Given the description of an element on the screen output the (x, y) to click on. 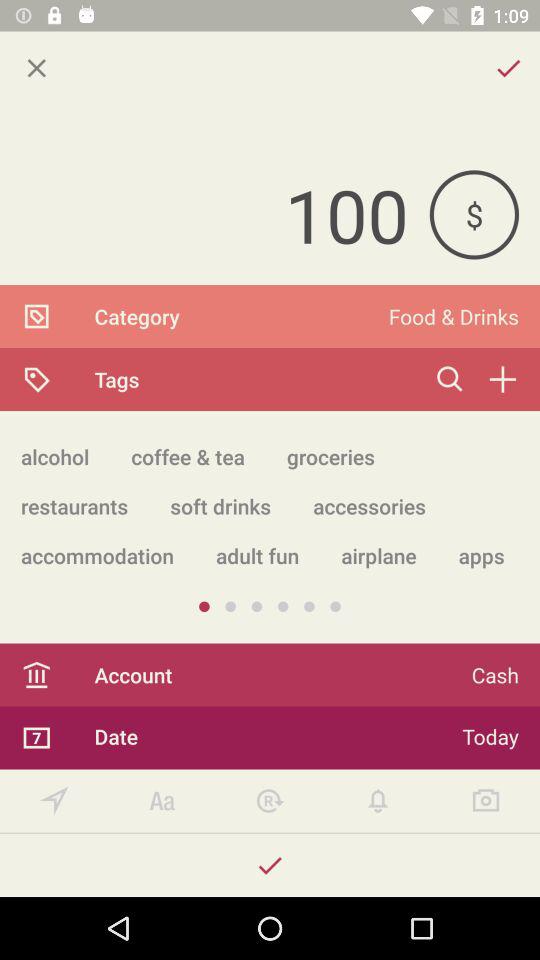
add text (162, 800)
